Given the description of an element on the screen output the (x, y) to click on. 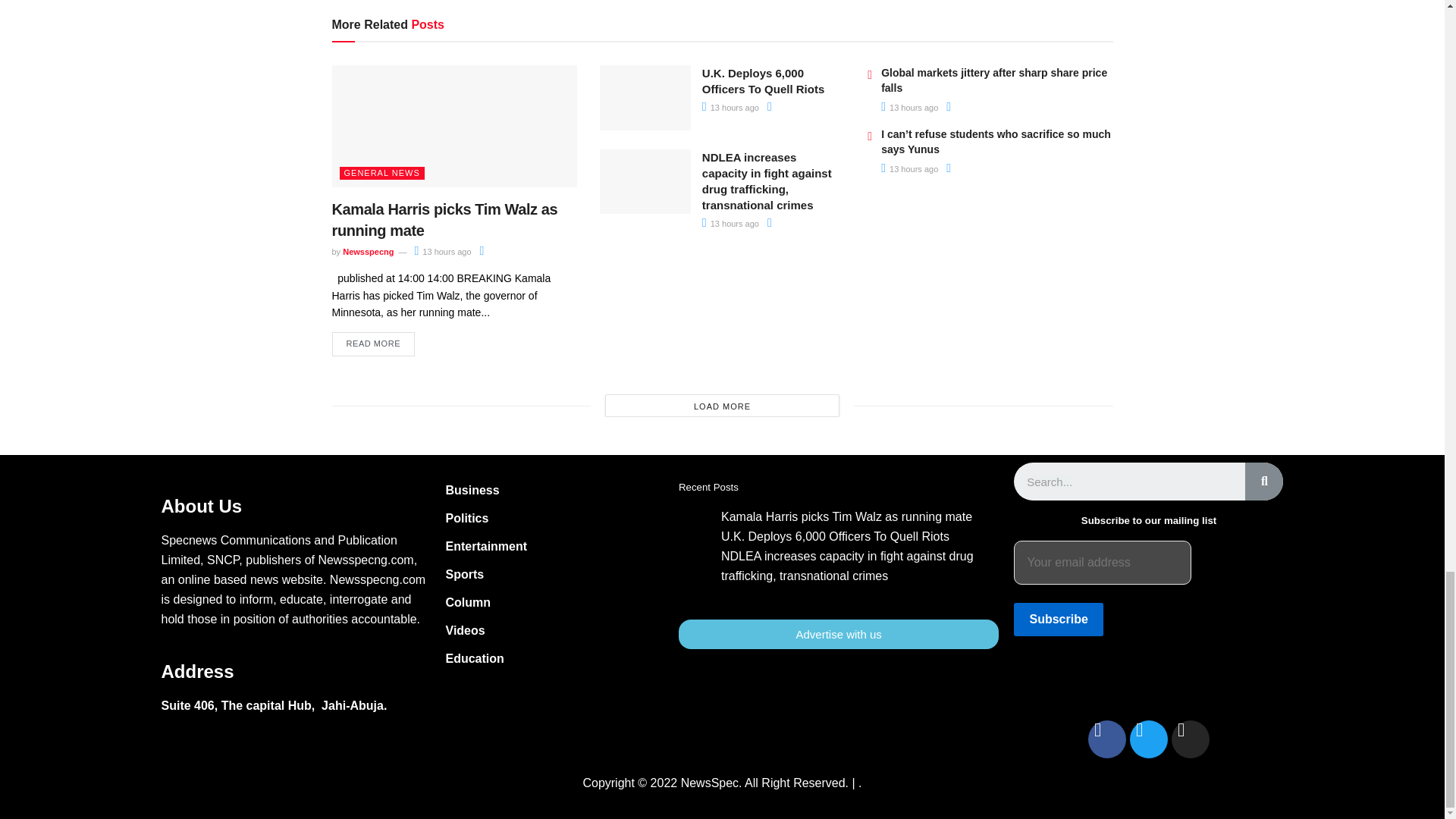
Subscribe (1057, 619)
Search (1128, 481)
Search (1263, 481)
